Given the description of an element on the screen output the (x, y) to click on. 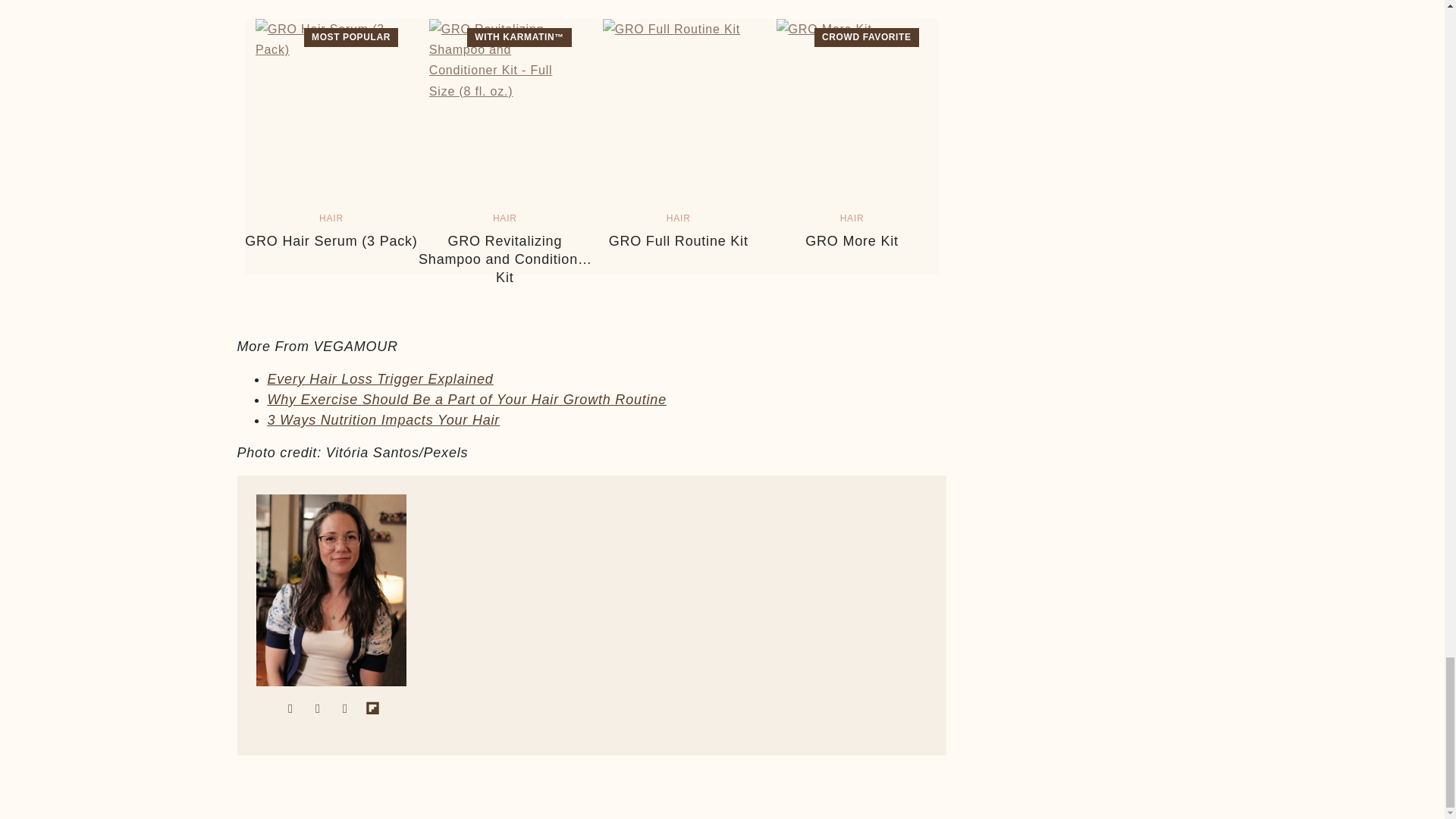
what causes hair loss (379, 378)
exercise hair loss (466, 399)
nutrition hair (382, 419)
